Given the description of an element on the screen output the (x, y) to click on. 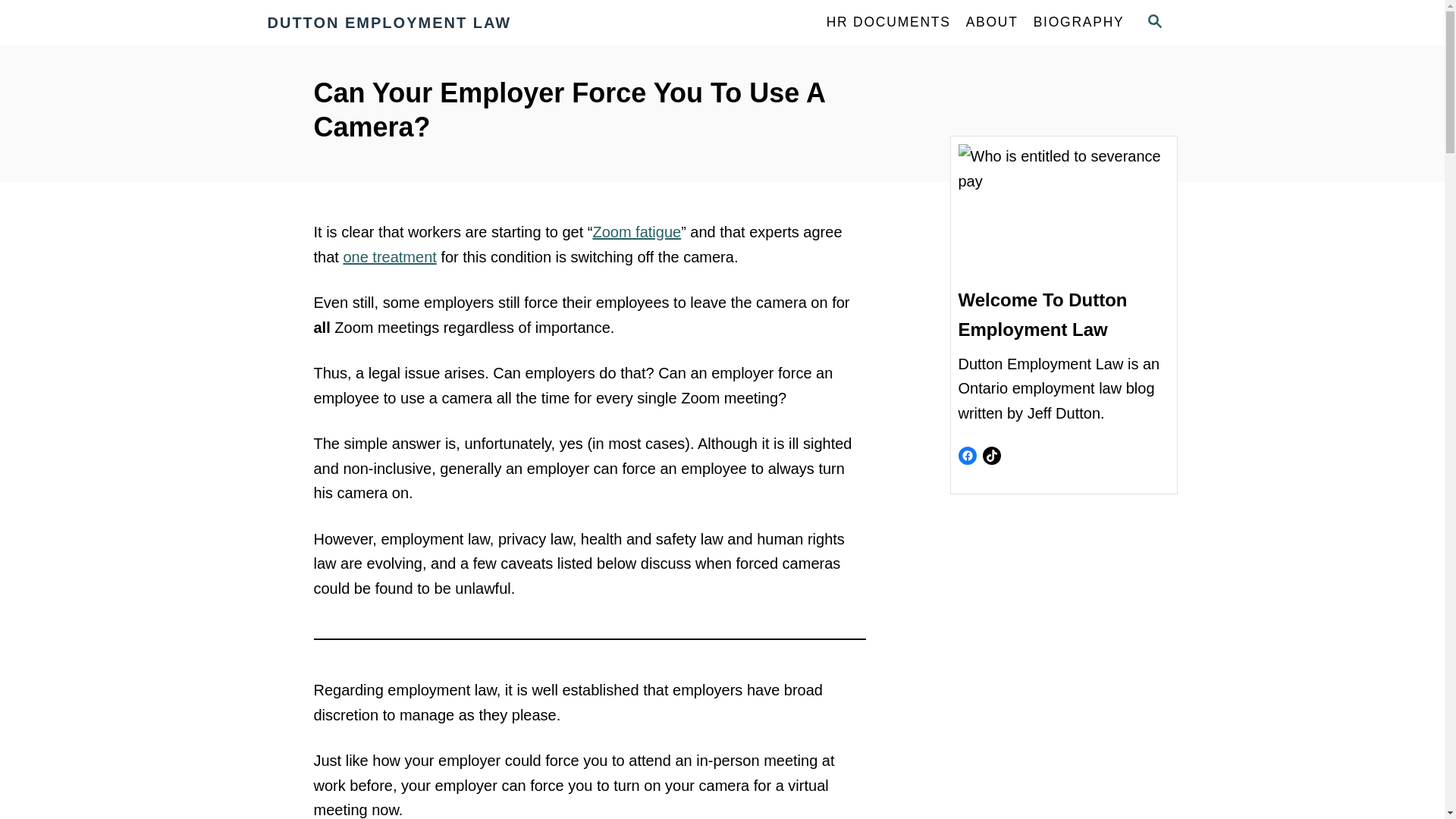
DUTTON EMPLOYMENT LAW (403, 23)
Zoom fatigue (636, 231)
SEARCH (1153, 22)
Dutton Employment Law (403, 23)
Facebook (967, 455)
TikTok (991, 455)
one treatment (388, 256)
ABOUT (992, 22)
HR DOCUMENTS (888, 22)
BIOGRAPHY (1079, 22)
